Given the description of an element on the screen output the (x, y) to click on. 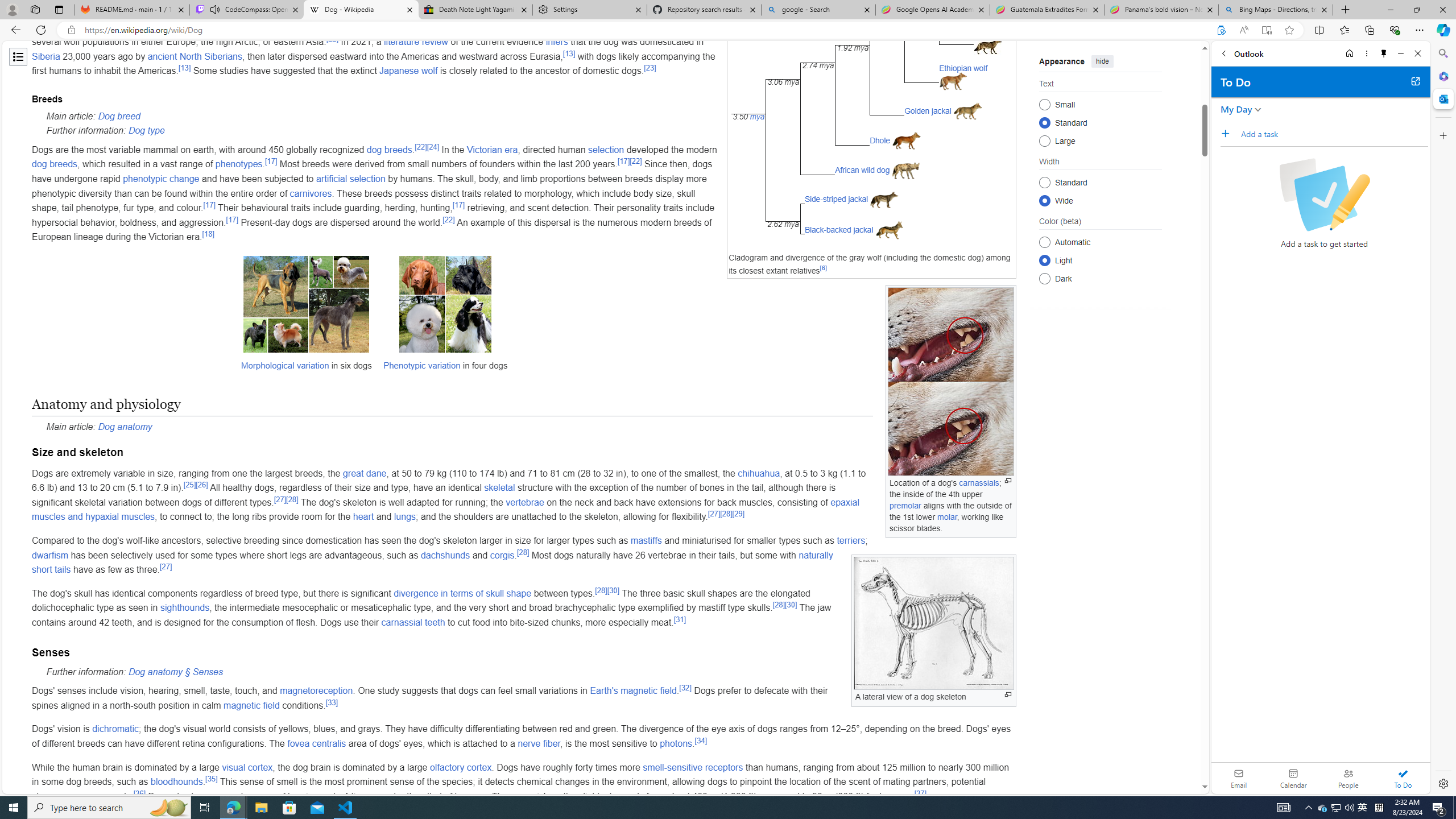
smell-sensitive receptors (693, 767)
heart (363, 516)
mastiffs (646, 539)
Dog type (146, 130)
[23] (649, 67)
olfactory cortex (460, 767)
Victorian era (491, 149)
Phenotypic variation in four dogs (445, 317)
[28] (777, 604)
Mute tab (215, 8)
Dog anatomy (124, 426)
